Given the description of an element on the screen output the (x, y) to click on. 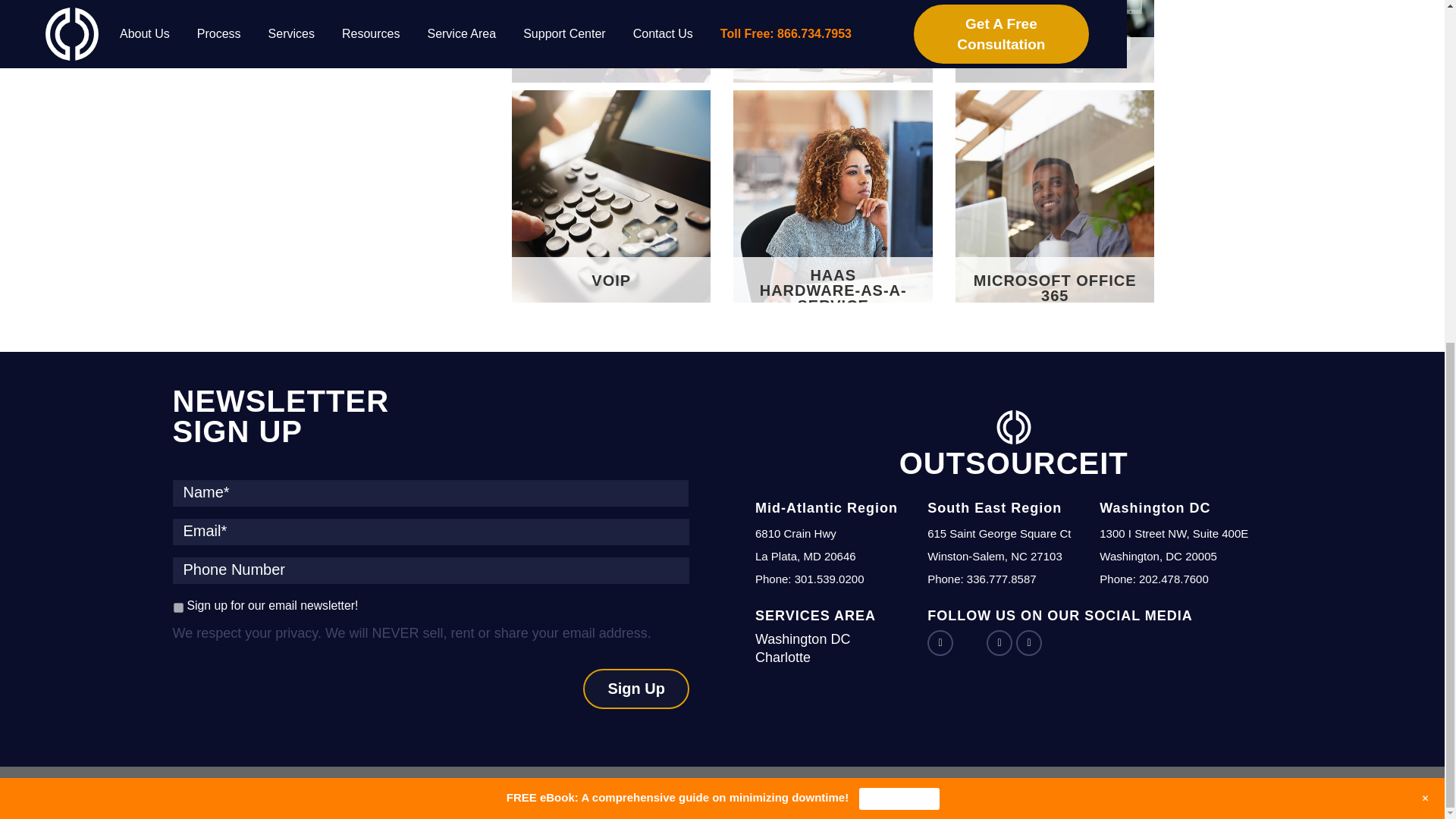
Sign up for our email newsletter! (178, 607)
Sign Up (635, 689)
